Given the description of an element on the screen output the (x, y) to click on. 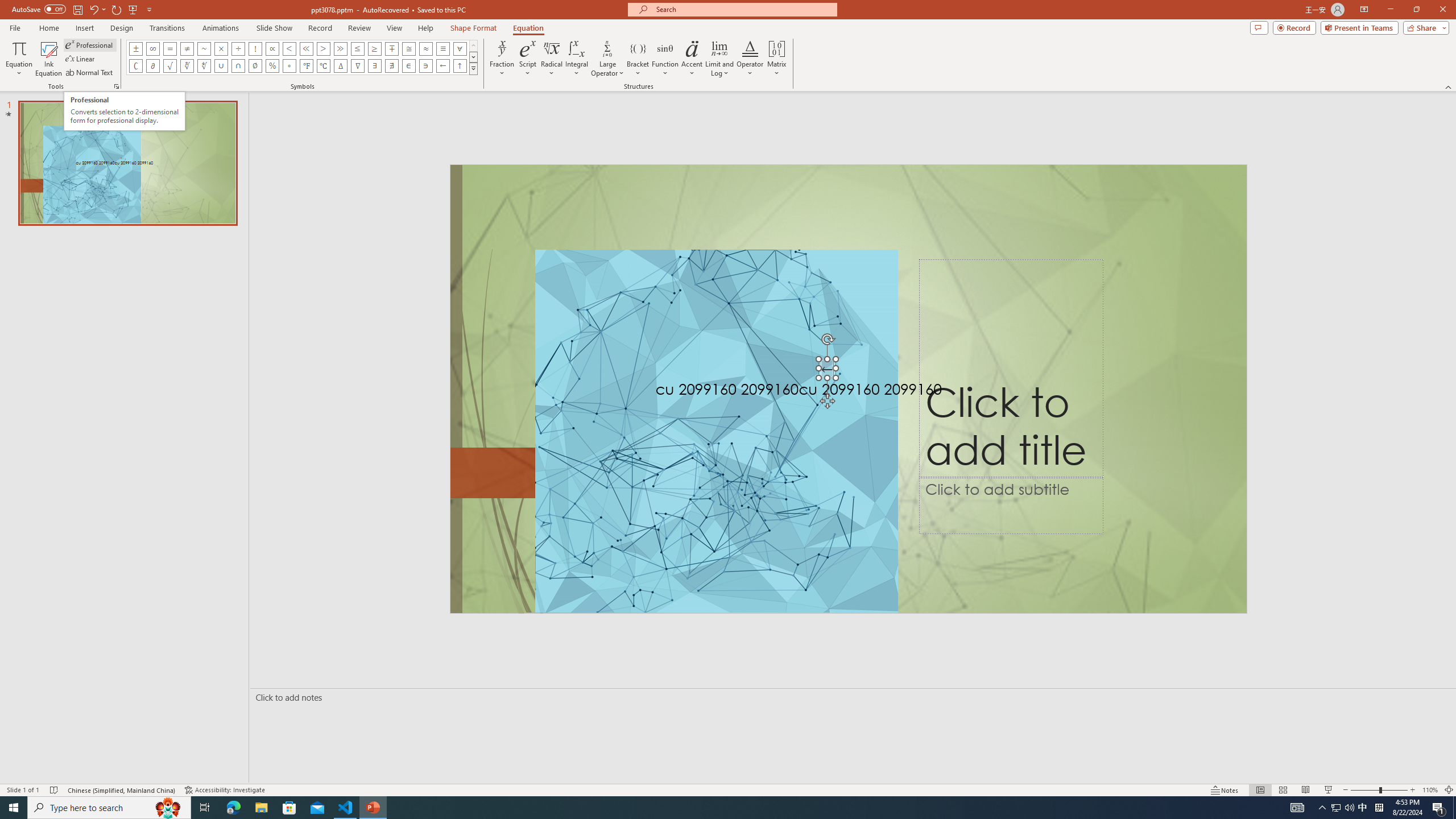
Equation Symbol Approximately Equal To (408, 48)
Equation Symbol Complement (136, 65)
Equation Symbol Partial Differential (152, 65)
